Given the description of an element on the screen output the (x, y) to click on. 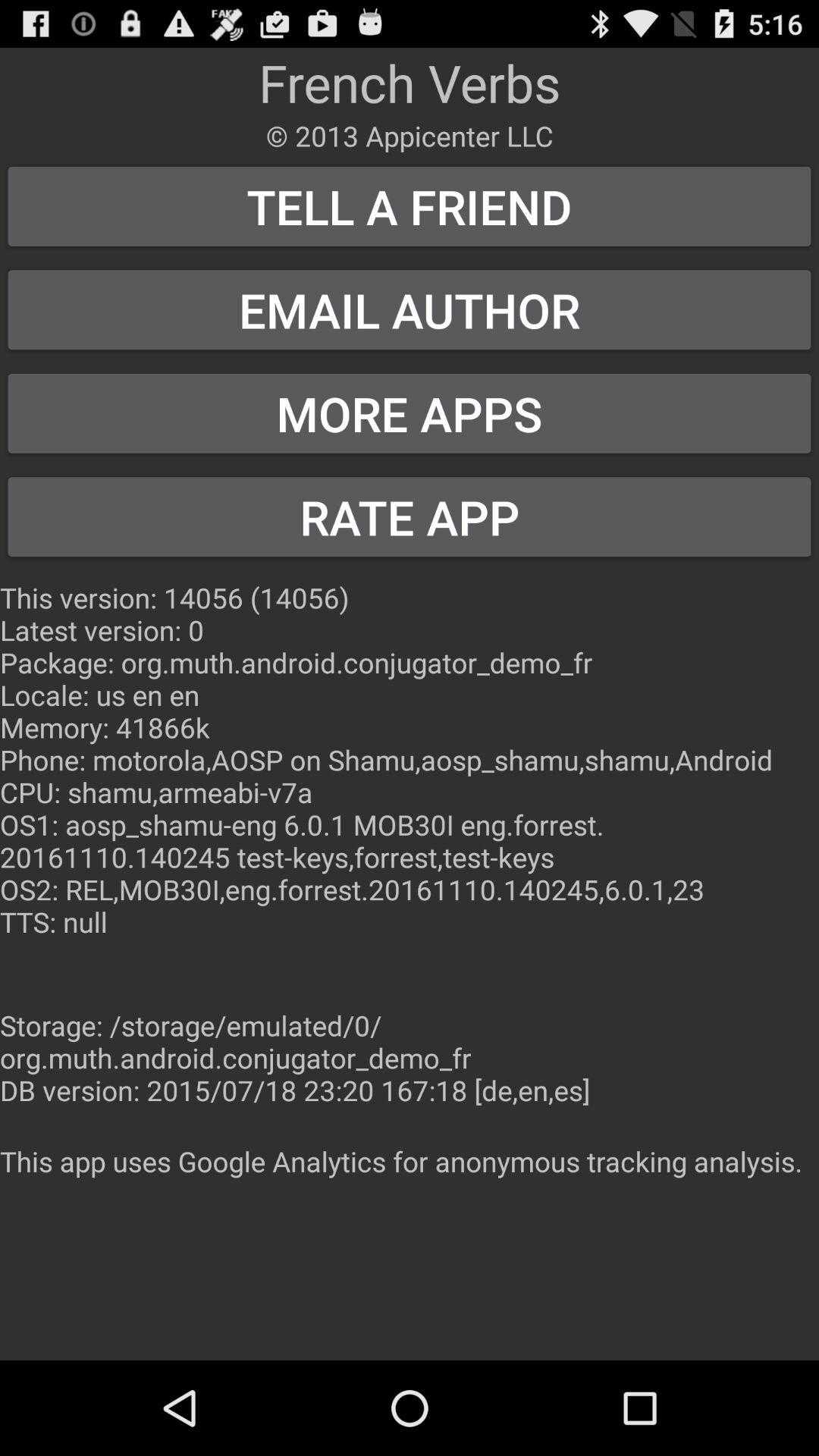
tap button below email author item (409, 413)
